Given the description of an element on the screen output the (x, y) to click on. 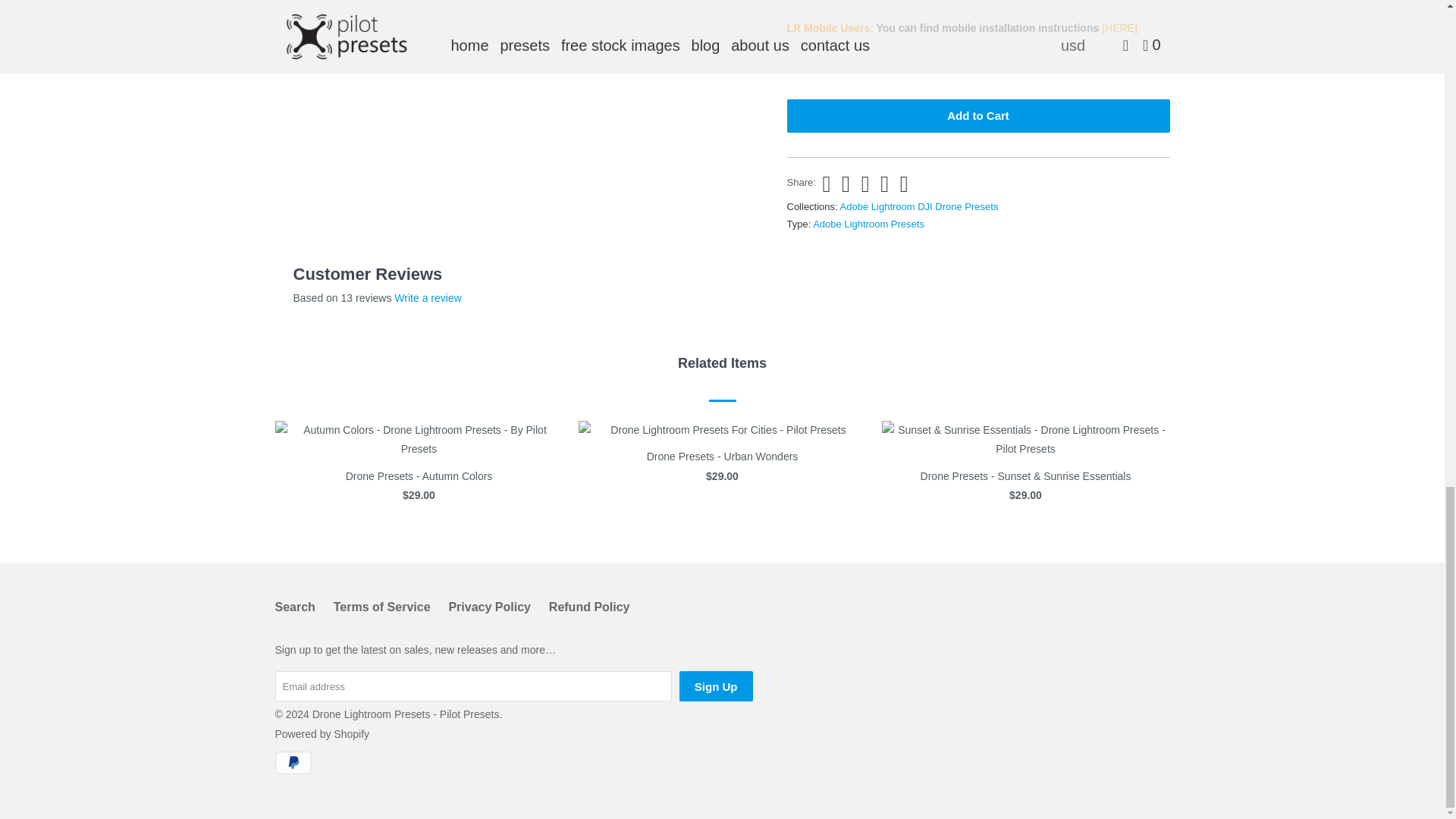
Sign Up (715, 685)
PayPal (294, 762)
Add to Cart (978, 115)
